Given the description of an element on the screen output the (x, y) to click on. 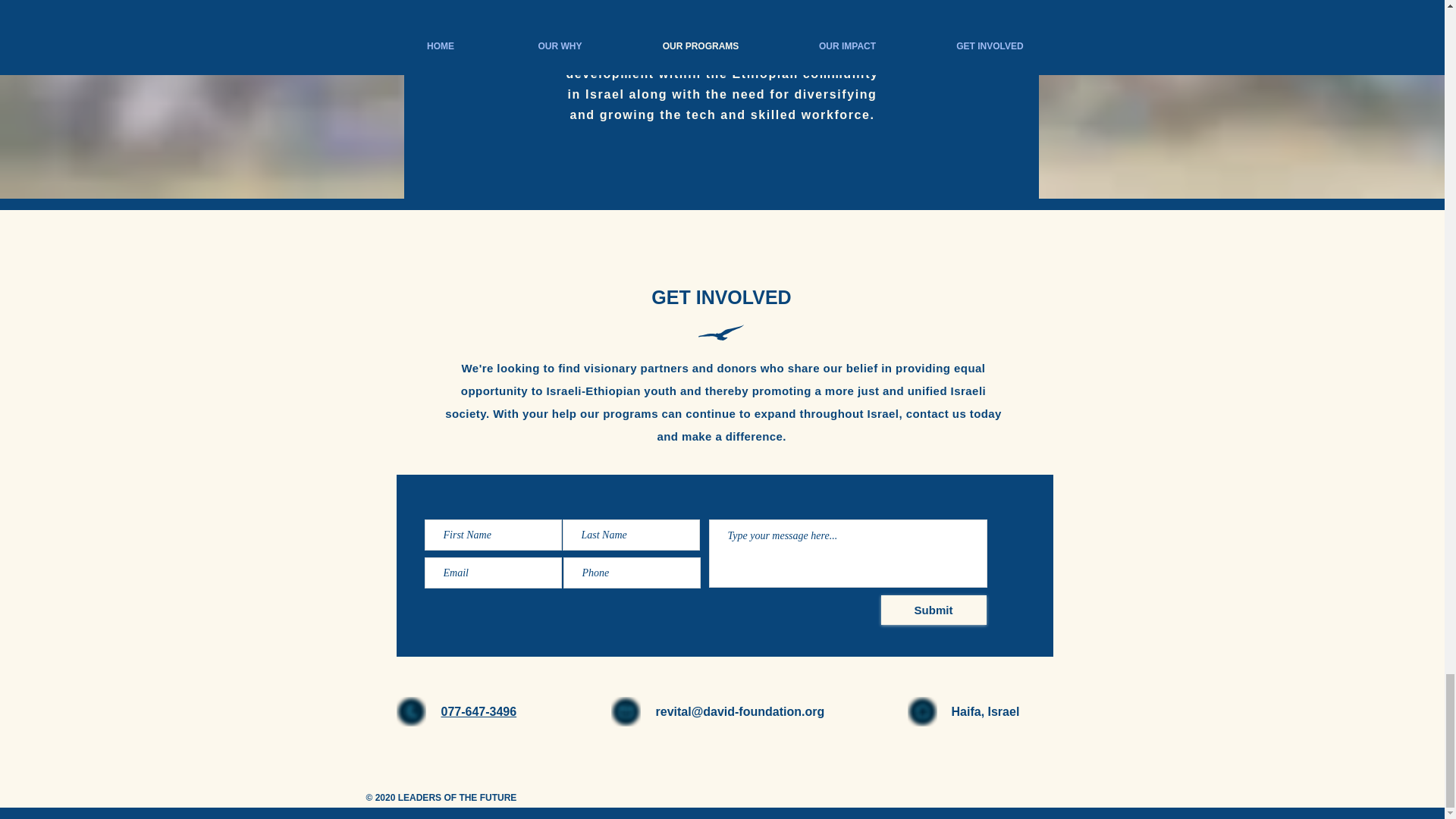
077-647-3496 (478, 711)
Submit (933, 609)
